Given the description of an element on the screen output the (x, y) to click on. 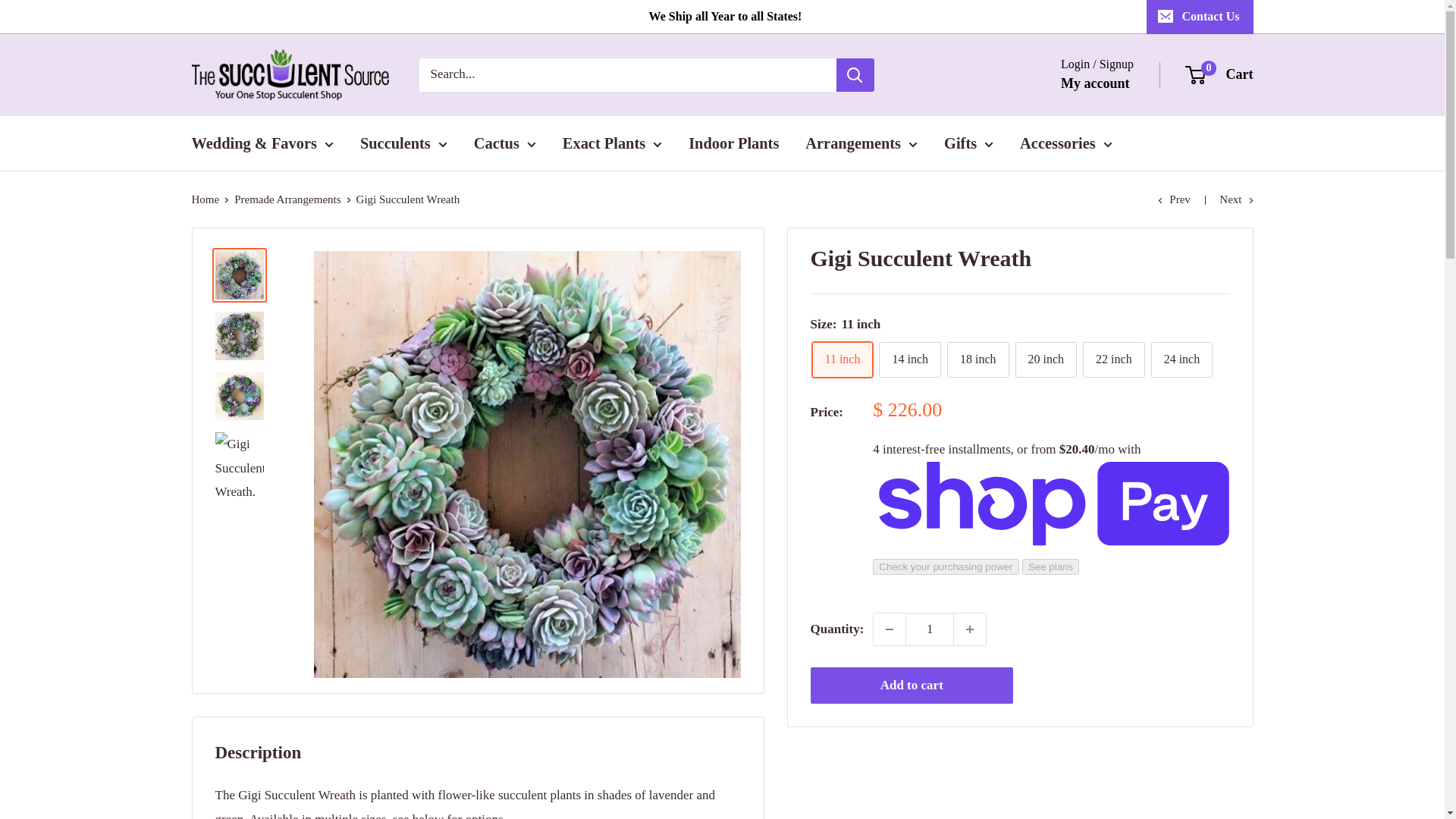
1 (929, 629)
20 inch (1045, 359)
11 inch (841, 359)
22 inch (1113, 359)
Decrease quantity by 1 (889, 629)
Contact Us (1200, 16)
14 inch (909, 359)
24 inch (1181, 359)
Increase quantity by 1 (969, 629)
18 inch (978, 359)
